Given the description of an element on the screen output the (x, y) to click on. 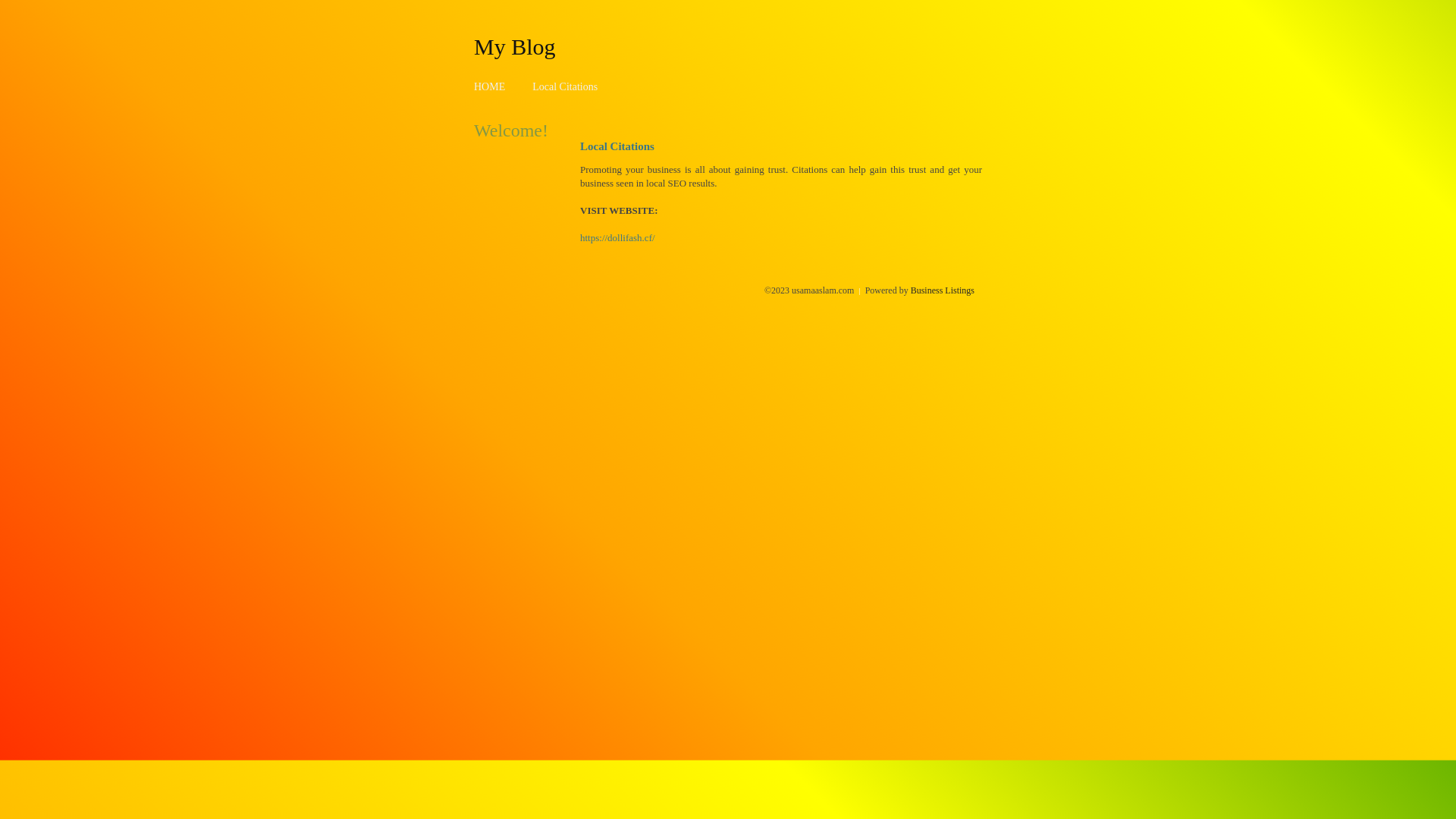
HOME Element type: text (489, 86)
My Blog Element type: text (514, 46)
Local Citations Element type: text (564, 86)
Business Listings Element type: text (942, 290)
https://dollifash.cf/ Element type: text (617, 237)
